Given the description of an element on the screen output the (x, y) to click on. 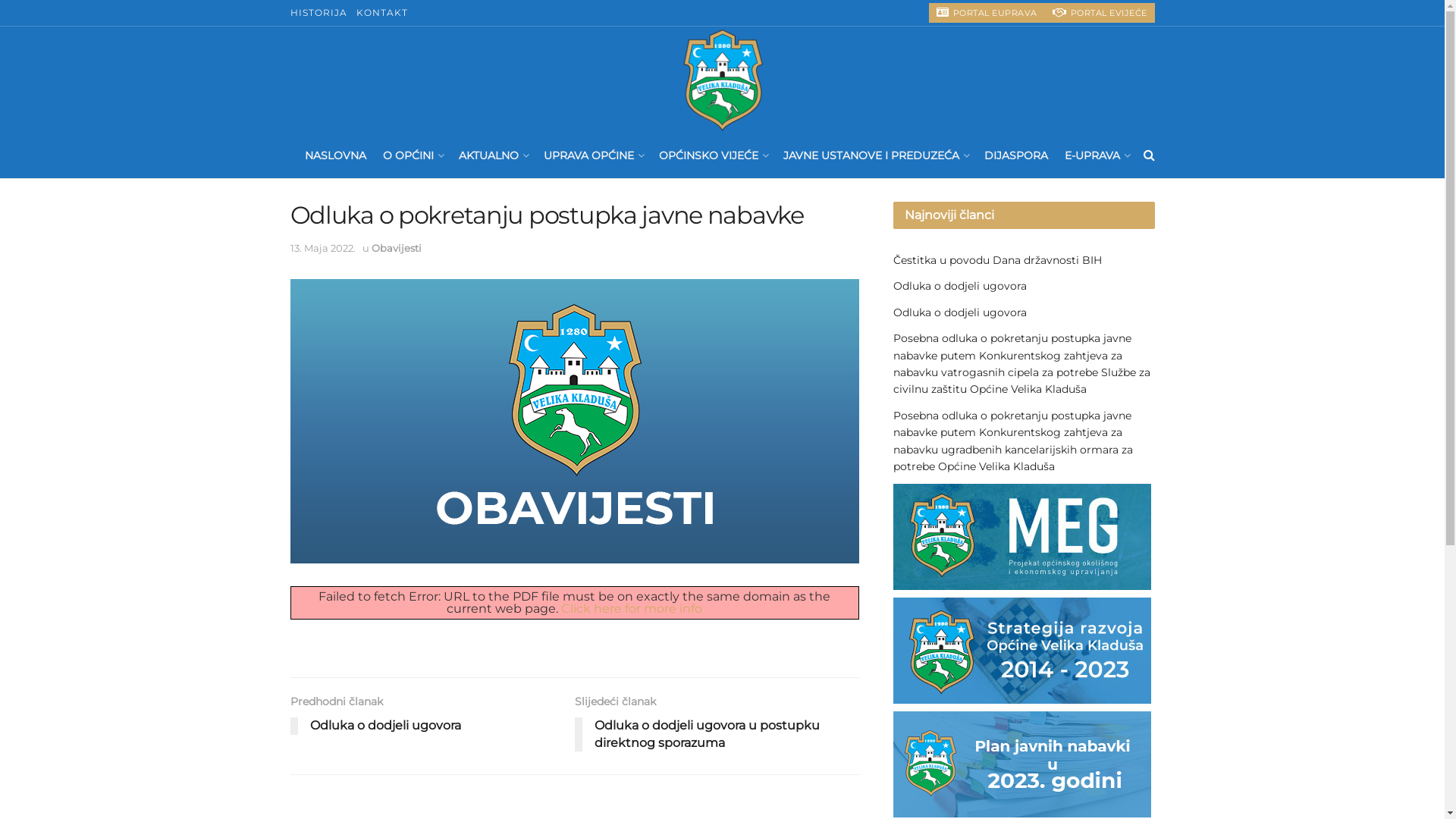
13. Maja 2022. Element type: text (321, 247)
Odluka o dodjeli ugovora Element type: text (959, 285)
Odluka o dodjeli ugovora Element type: text (959, 312)
PORTAL EUPRAVA Element type: text (986, 12)
NASLOVNA Element type: text (335, 155)
AKTUALNO Element type: text (492, 155)
DIJASPORA Element type: text (1016, 155)
E-UPRAVA Element type: text (1096, 155)
HISTORIJA Element type: text (317, 12)
Click here for more info Element type: text (631, 608)
KONTAKT Element type: text (381, 12)
Obavijesti Element type: text (396, 247)
